Given the description of an element on the screen output the (x, y) to click on. 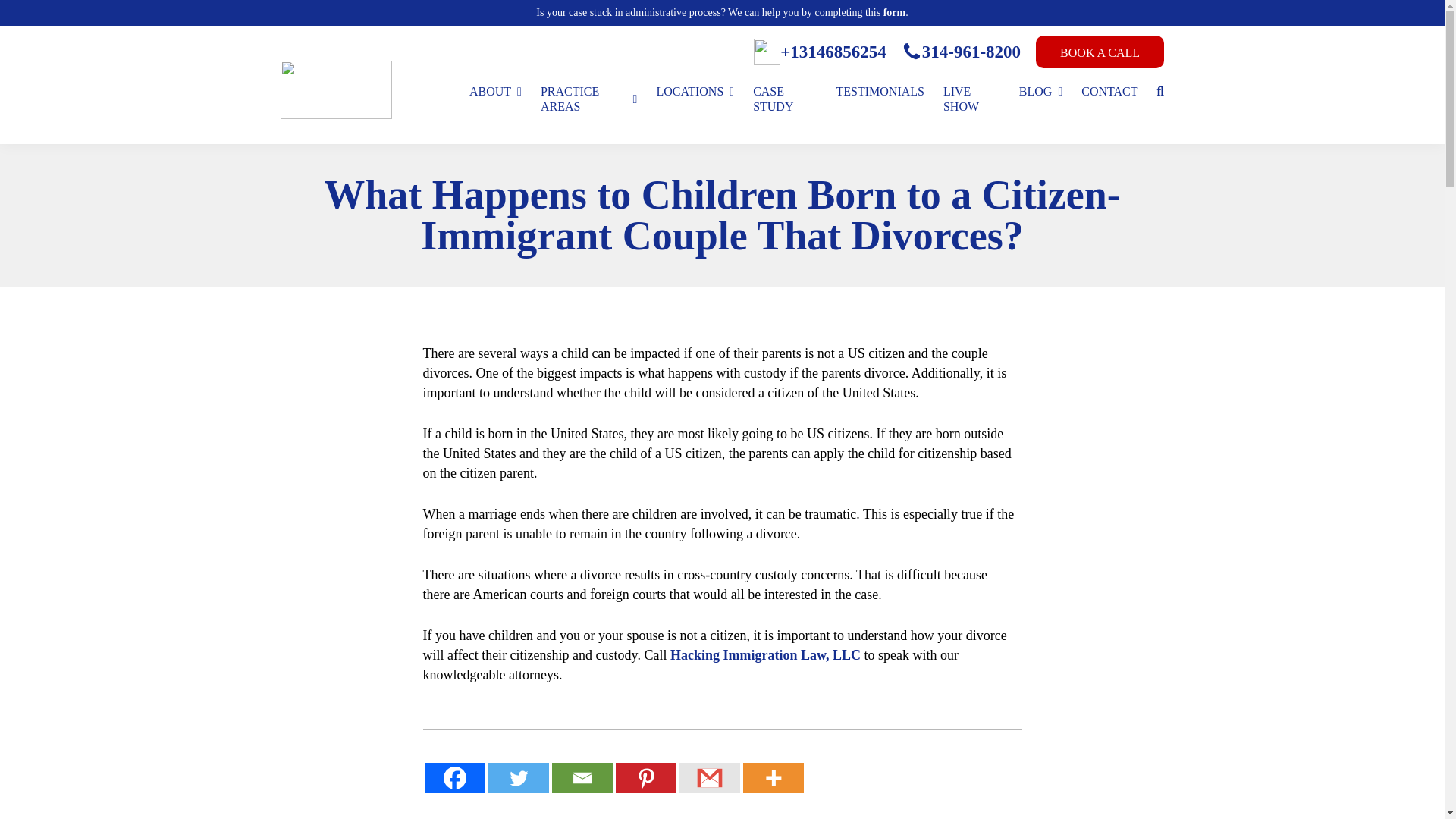
Twitter (517, 777)
form (894, 12)
CASE STUDY (784, 98)
Facebook (454, 777)
BLOG (1040, 91)
LIVE SHOW (971, 98)
Email (581, 777)
LOCATIONS (694, 91)
ABOUT (494, 91)
More (772, 777)
